Given the description of an element on the screen output the (x, y) to click on. 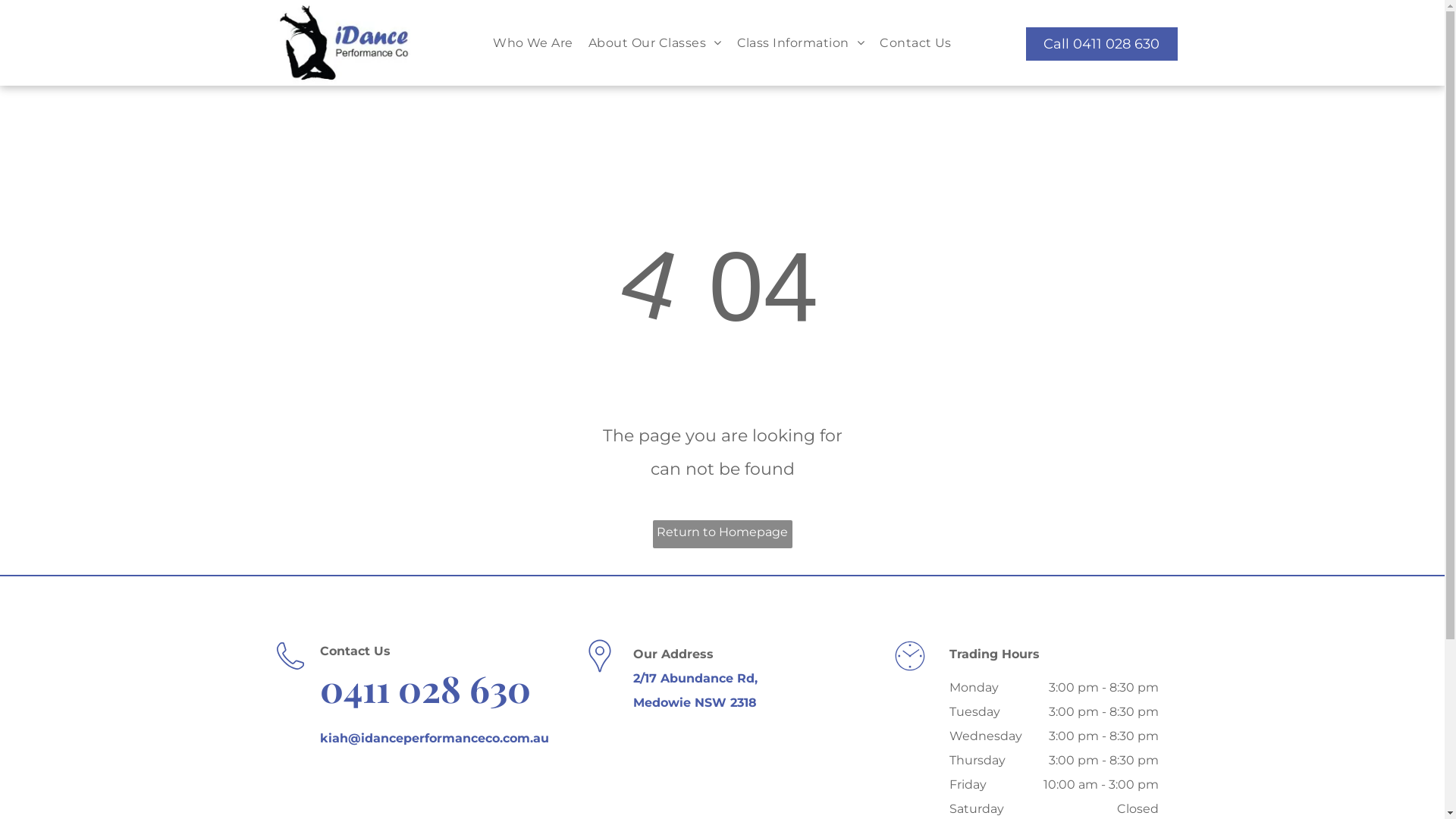
2/17 Abundance Rd, Medowie NSW 2318 Element type: text (695, 690)
Contact Us Element type: text (915, 43)
About Our Classes Element type: text (654, 43)
Phone Icon Element type: hover (289, 655)
Return to Homepage Element type: text (721, 534)
Call 0411 028 630 Element type: text (1100, 43)
0411 028 630 Element type: text (425, 687)
Who We Are Element type: text (532, 43)
Location Icon Element type: hover (599, 655)
Clock Icon Element type: hover (909, 655)
kiah@idanceperformanceco.com.au Element type: text (434, 738)
Dancing Lessons in Medowie, Port Stephens Element type: hover (342, 42)
Class Information Element type: text (800, 43)
